Given the description of an element on the screen output the (x, y) to click on. 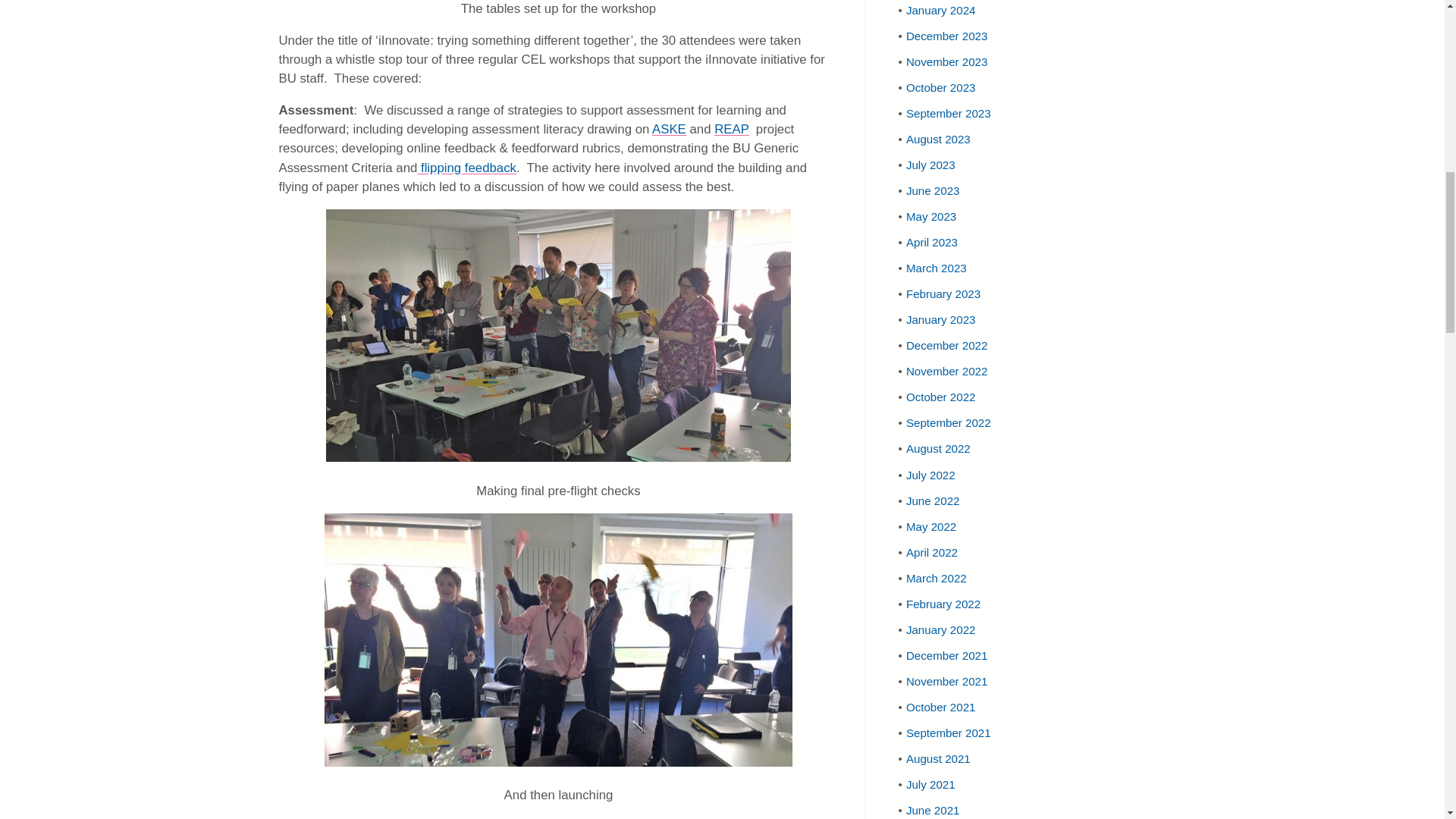
June 2023 (932, 190)
July 2023 (930, 164)
September 2023 (948, 113)
March 2023 (935, 267)
April 2023 (931, 241)
November 2023 (946, 61)
ASKE (668, 129)
January 2024 (940, 10)
December 2023 (946, 35)
October 2023 (940, 87)
